Given the description of an element on the screen output the (x, y) to click on. 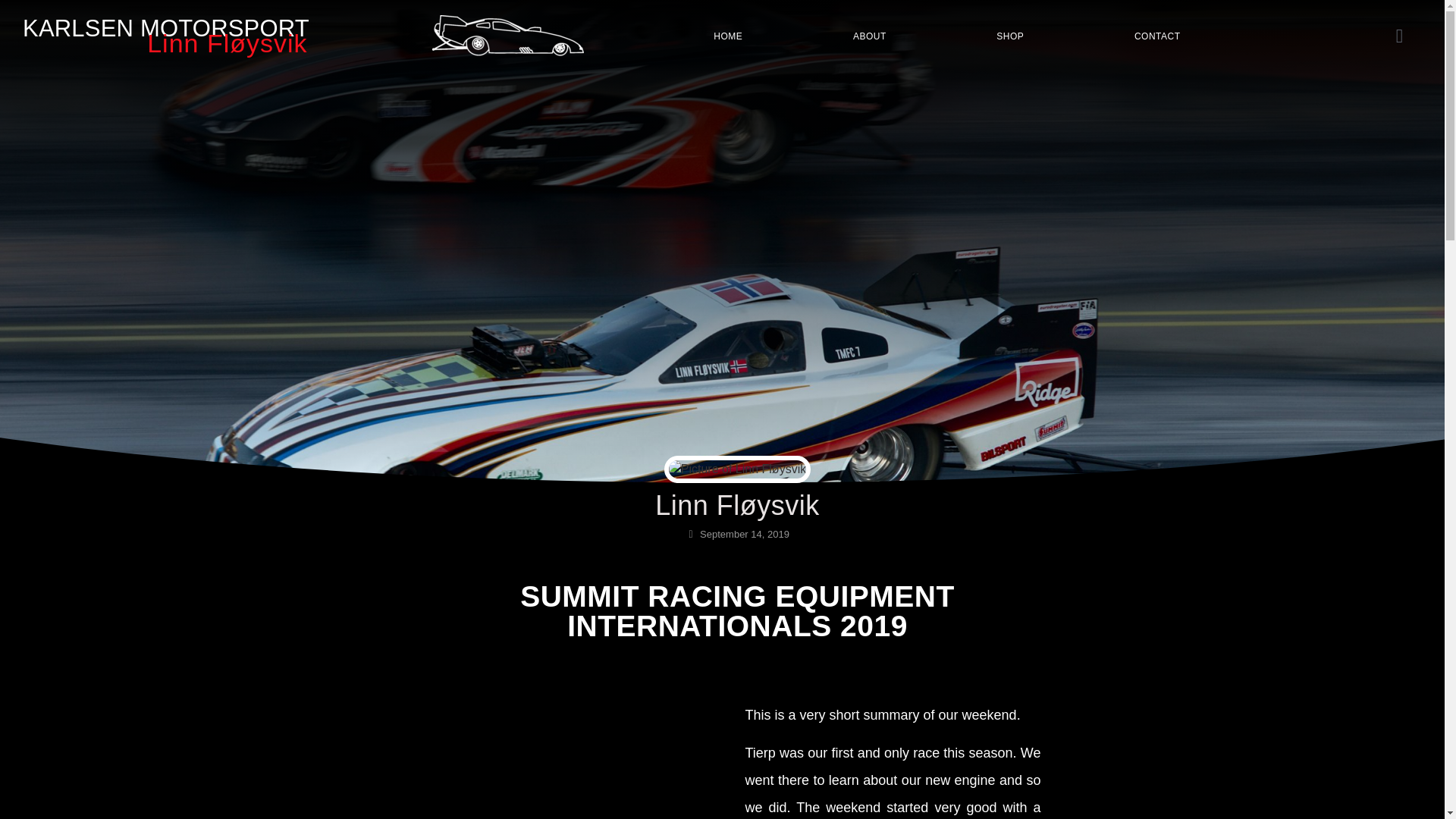
ABOUT (868, 35)
KARLSEN MOTORSPORT (165, 28)
SHOP (1011, 35)
CONTACT (1156, 35)
HOME (728, 35)
September 14, 2019 (737, 534)
